Given the description of an element on the screen output the (x, y) to click on. 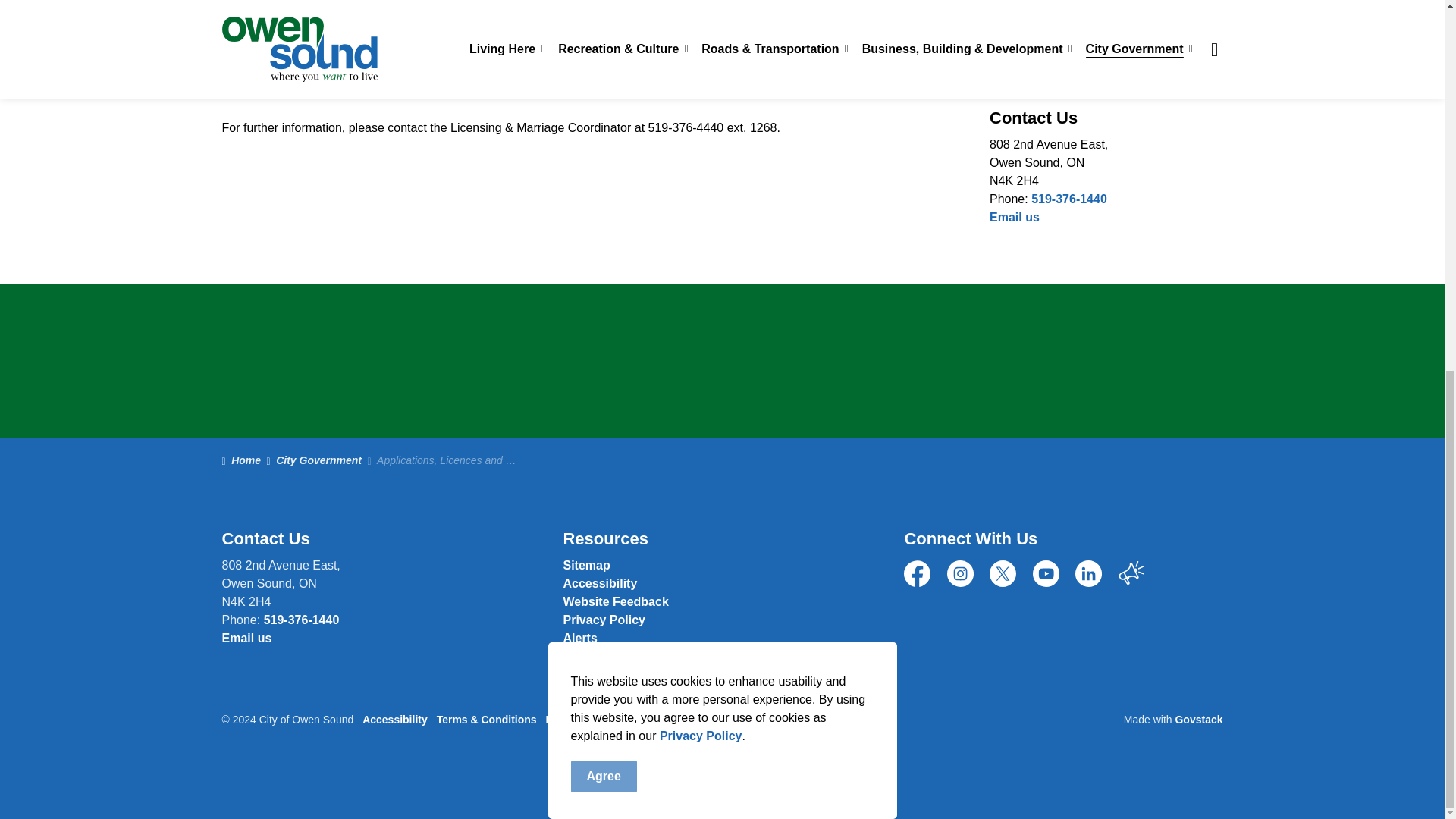
Contacts Directory (615, 601)
News and Public Notices (579, 637)
Privacy Policy (603, 619)
Contacts Directory (245, 637)
Contacts Directory (1014, 216)
Accessibility (599, 583)
Sitemap (586, 564)
